Given the description of an element on the screen output the (x, y) to click on. 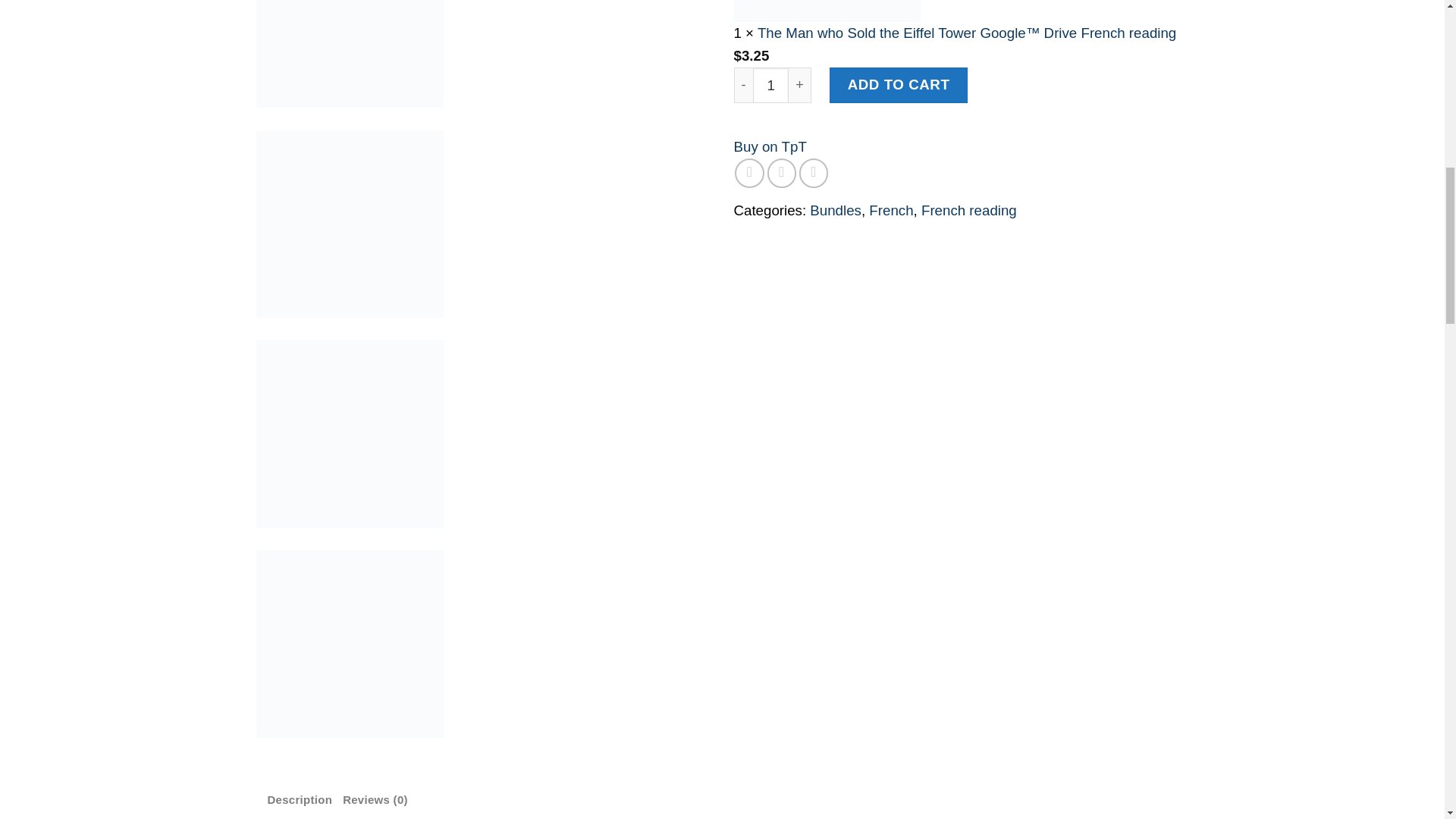
1 (770, 85)
